Given the description of an element on the screen output the (x, y) to click on. 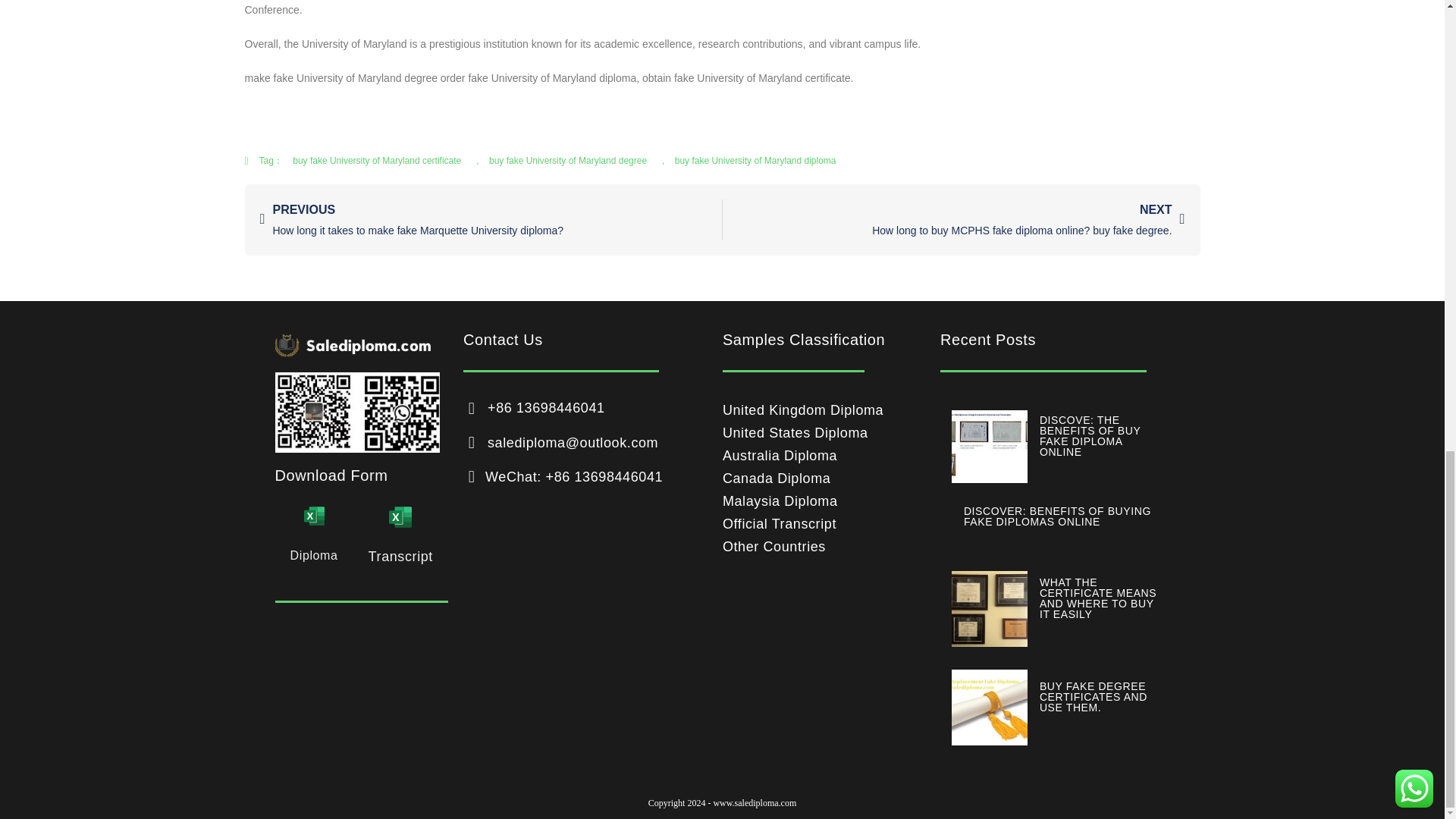
Discove: The benefits of buy fake diploma online (989, 446)
Discove: The benefits of buy fake diploma online (1089, 435)
Discover: Benefits of Buying Fake Diplomas Online (1057, 516)
What the Certificate Means and Where to Buy It Easily (1097, 597)
What the Certificate Means and Where to Buy It Easily (989, 608)
Buy fake degree certificates and use them. (1093, 696)
Buy fake degree certificates and use them. (989, 707)
